Given the description of an element on the screen output the (x, y) to click on. 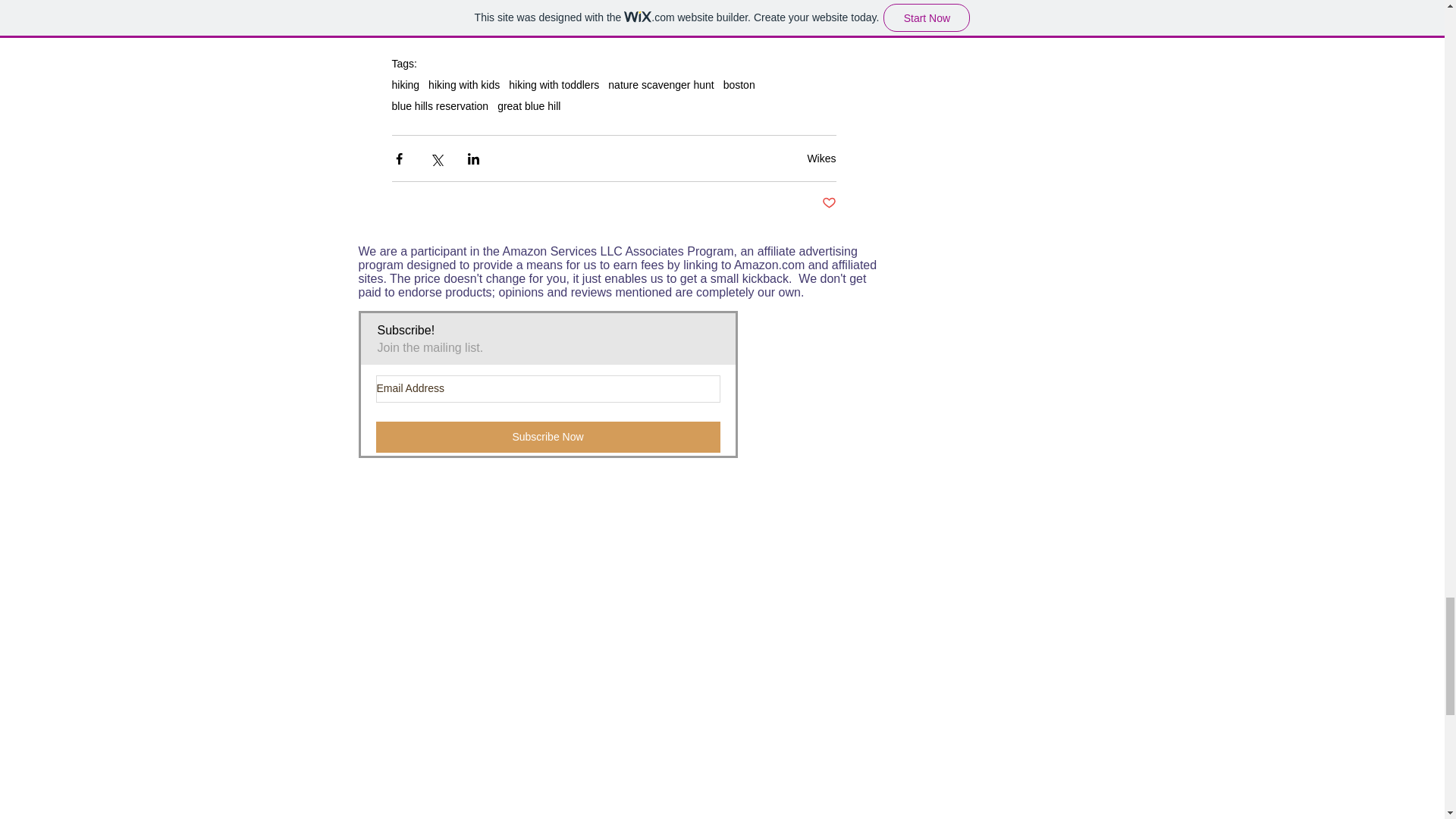
boston (739, 84)
hiking with kids (463, 84)
Wikes (820, 158)
hiking with toddlers (553, 84)
blue hills reservation (439, 105)
hiking (405, 84)
Post not marked as liked (828, 203)
nature scavenger hunt (660, 84)
great blue hill (528, 105)
